Given the description of an element on the screen output the (x, y) to click on. 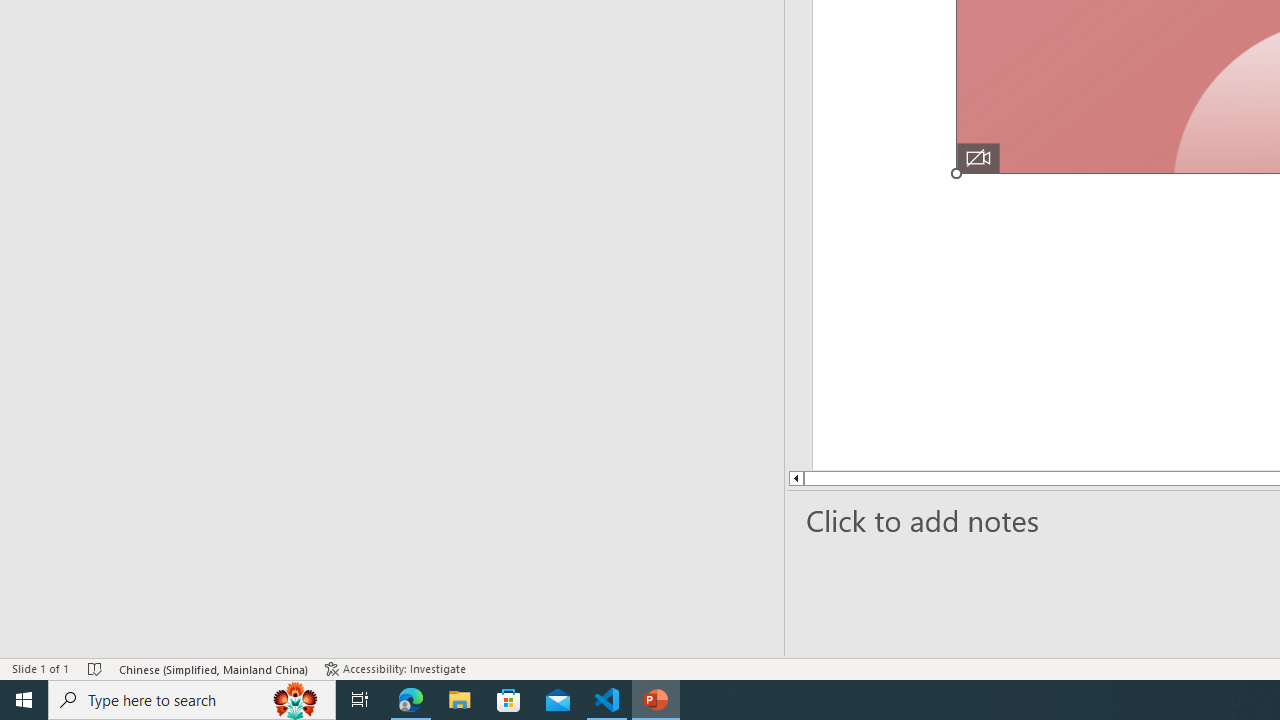
Page up (868, 478)
